Given the description of an element on the screen output the (x, y) to click on. 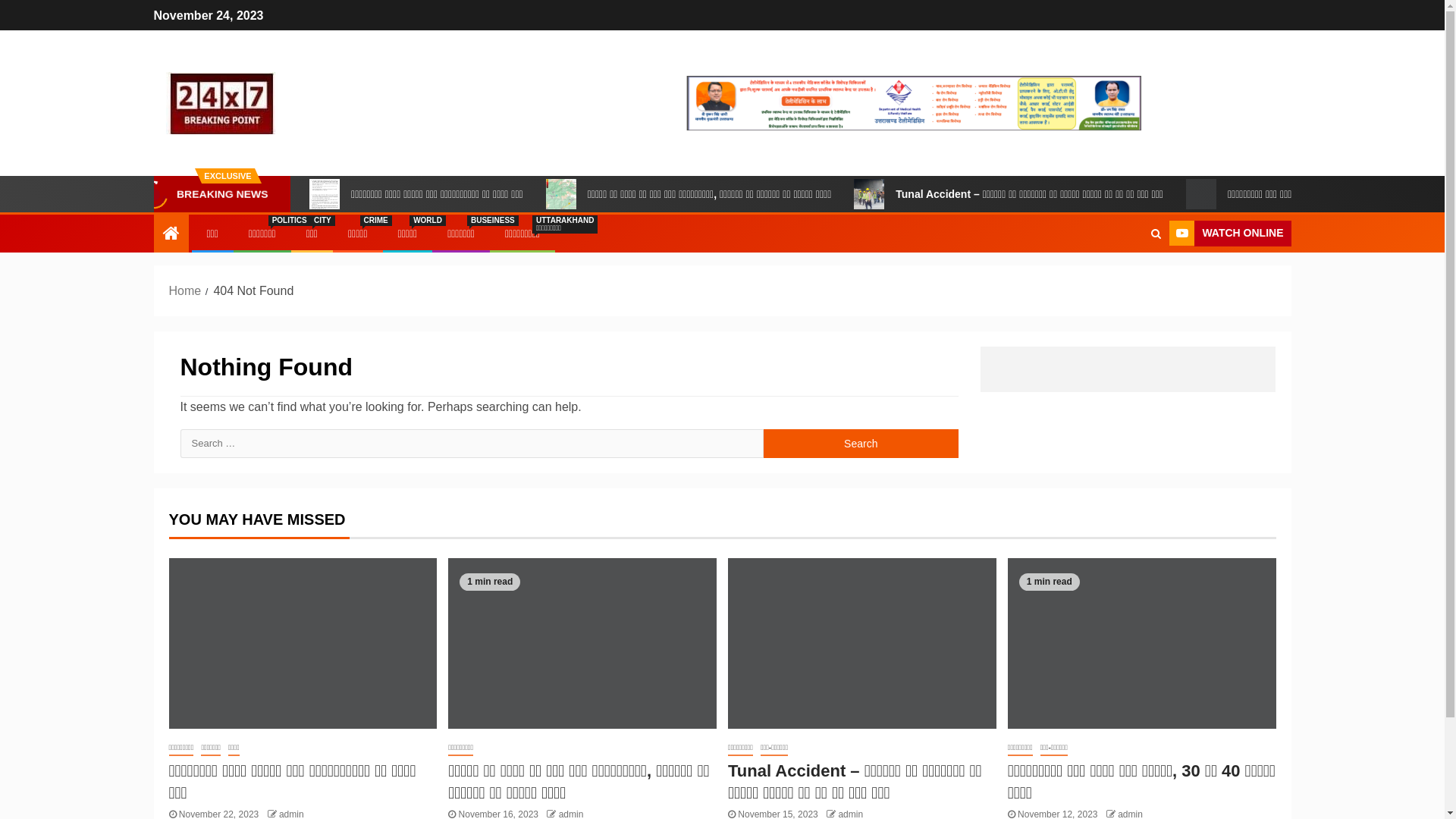
Search Element type: text (860, 443)
WATCH ONLINE Element type: text (1229, 233)
Search Element type: hover (1155, 233)
Home Element type: text (184, 290)
Search Element type: text (1126, 279)
